Given the description of an element on the screen output the (x, y) to click on. 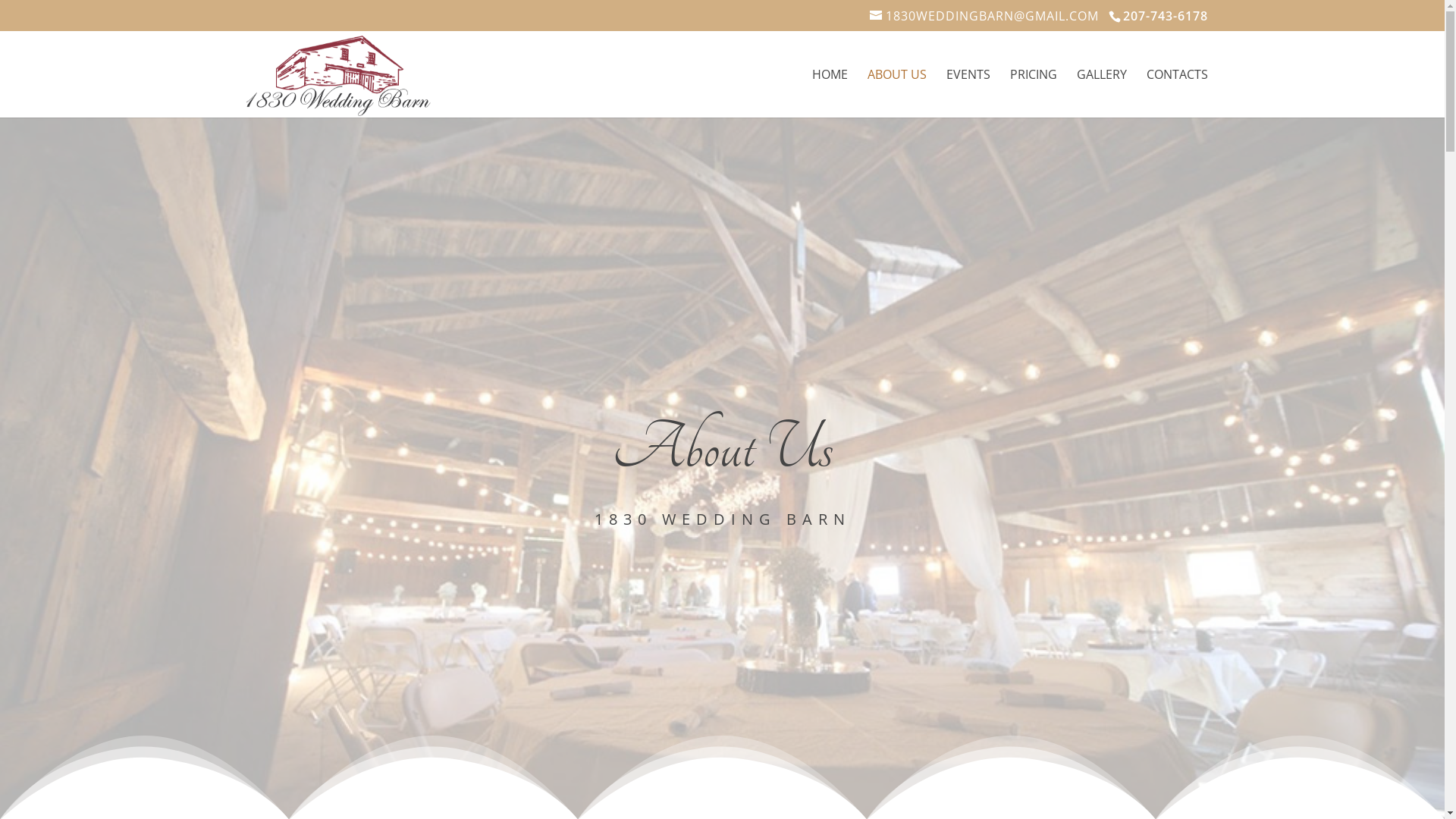
EVENTS Element type: text (968, 93)
HOME Element type: text (829, 93)
PRICING Element type: text (1033, 93)
CONTACTS Element type: text (1177, 93)
GALLERY Element type: text (1101, 93)
ABOUT US Element type: text (896, 93)
